Given the description of an element on the screen output the (x, y) to click on. 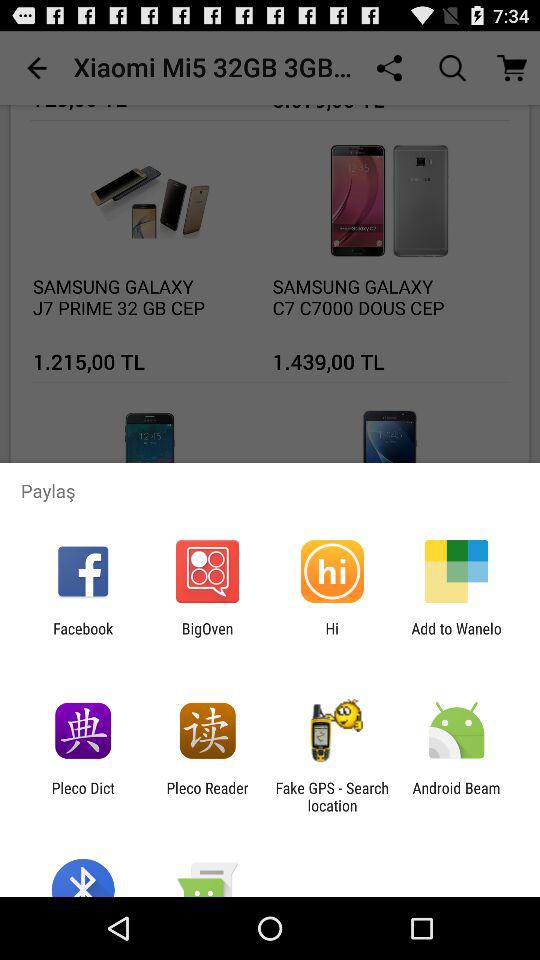
scroll to the fake gps search icon (332, 796)
